Given the description of an element on the screen output the (x, y) to click on. 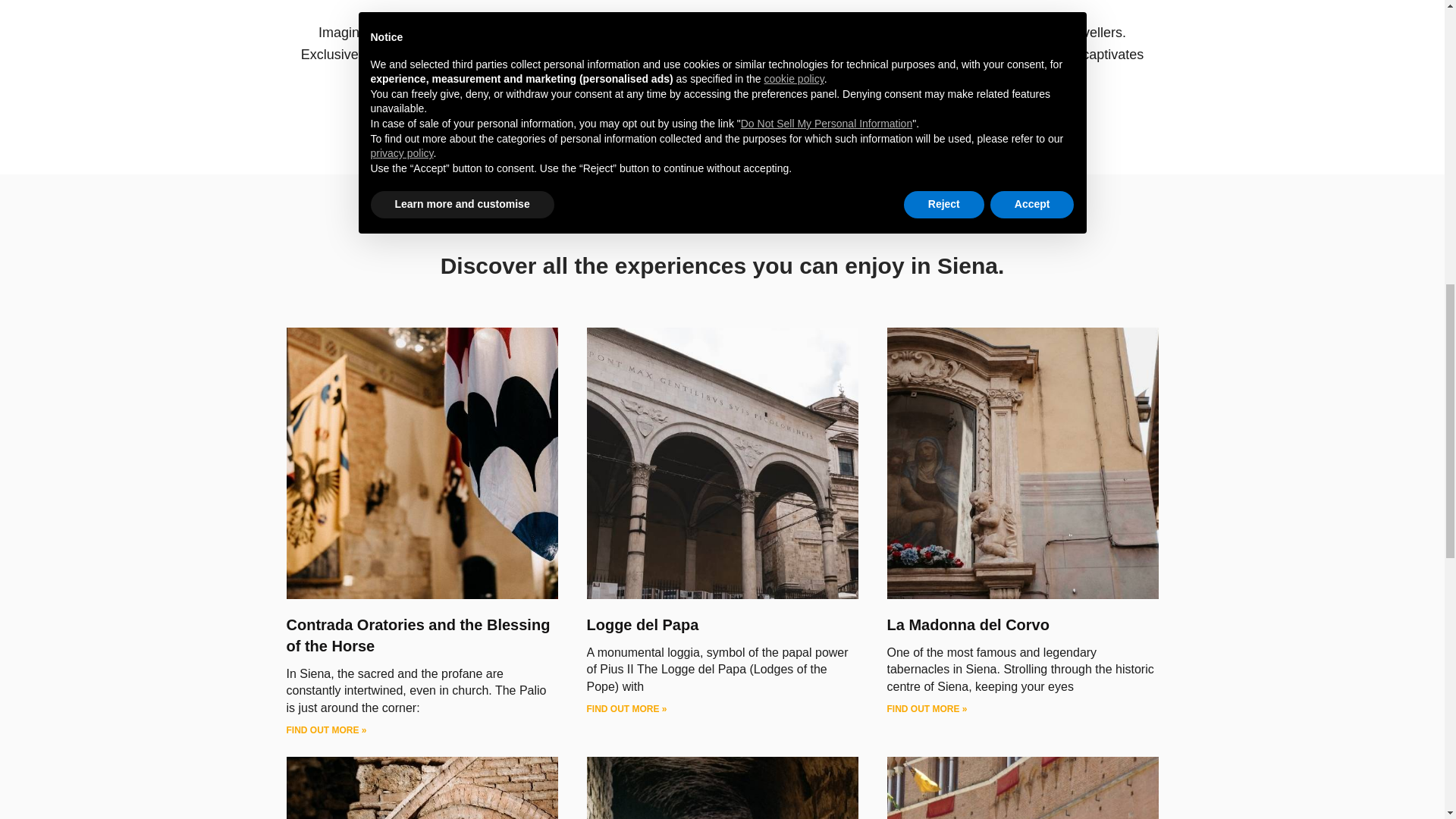
La Madonna del Corvo (967, 624)
Logge del Papa (642, 624)
Contrada Oratories and the Blessing of the Horse (418, 635)
